Given the description of an element on the screen output the (x, y) to click on. 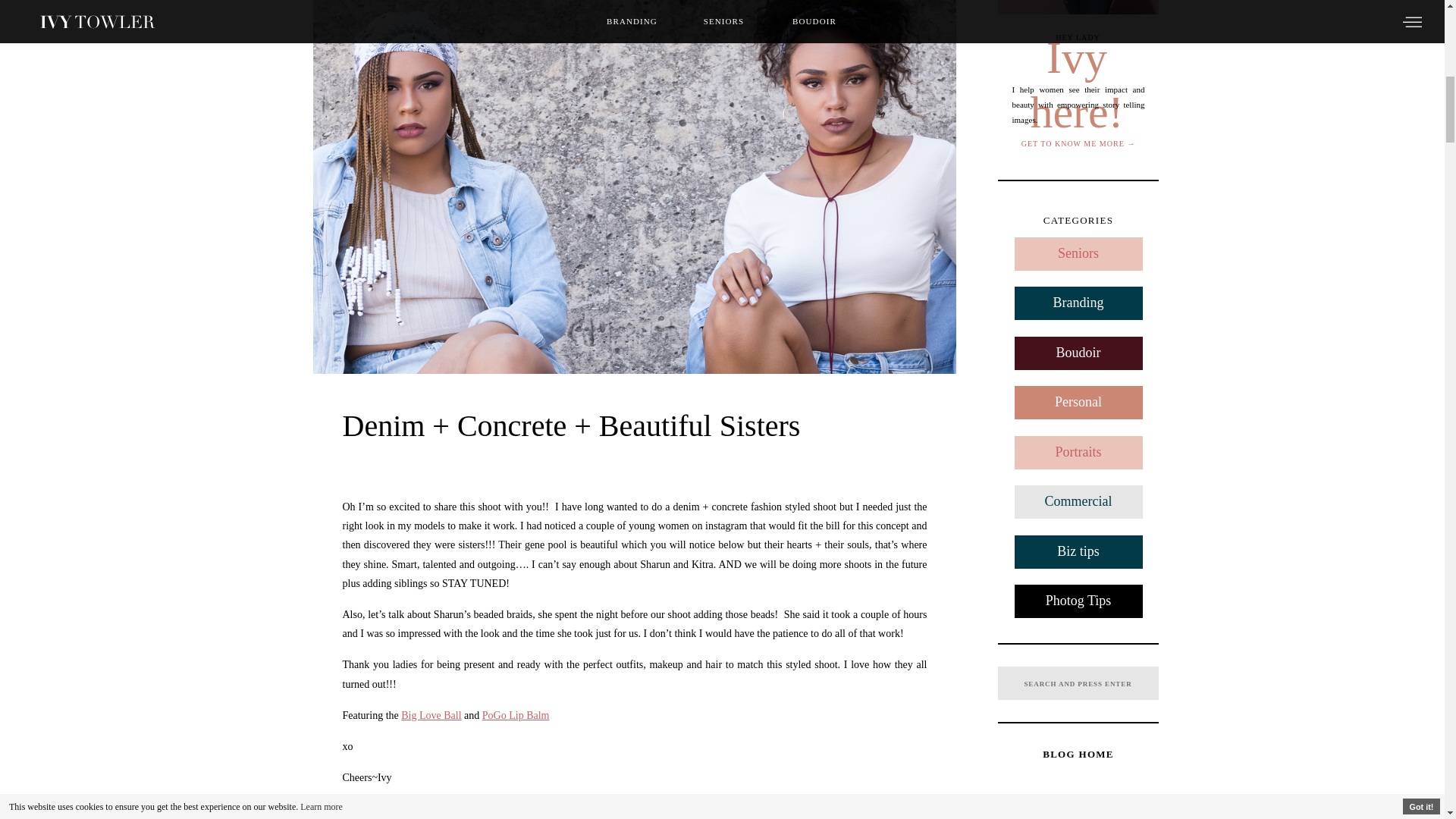
Seniors (1078, 254)
Photog Tips (1078, 601)
Boudoir (1078, 353)
Big Love Ball (431, 715)
Branding (1078, 303)
PoGo Lip Balm (515, 715)
BLOG HOME (1077, 754)
Personal (1078, 402)
Biz tips (1078, 551)
Commercial (1078, 501)
Portraits (1078, 452)
